Given the description of an element on the screen output the (x, y) to click on. 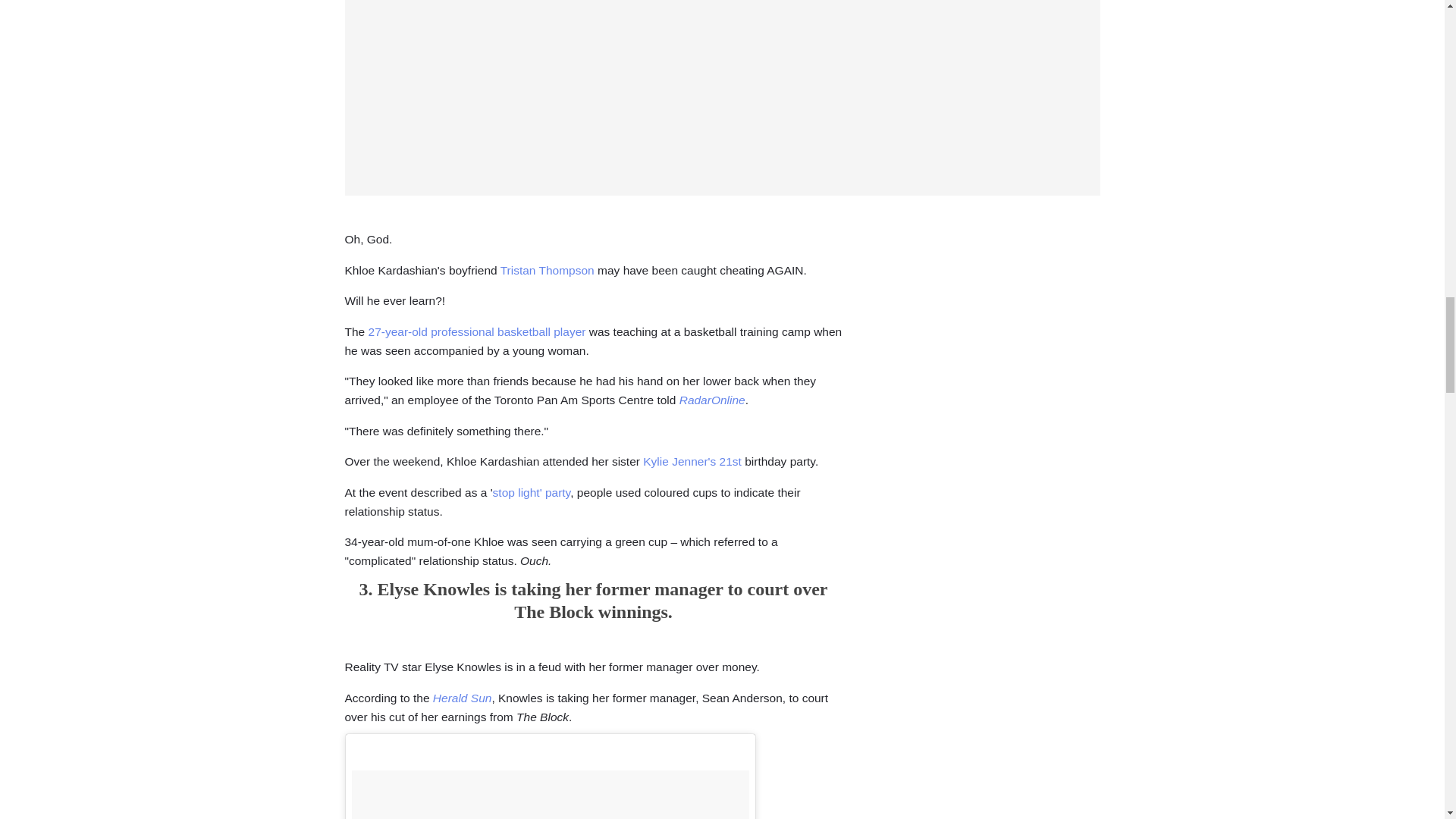
Herald Sun (462, 697)
RadarOnline (712, 399)
Tristan Thompson (547, 269)
Kylie Jenner's 21st (692, 461)
27-year-old professional basketball player (477, 331)
stop light' party (531, 492)
